Given the description of an element on the screen output the (x, y) to click on. 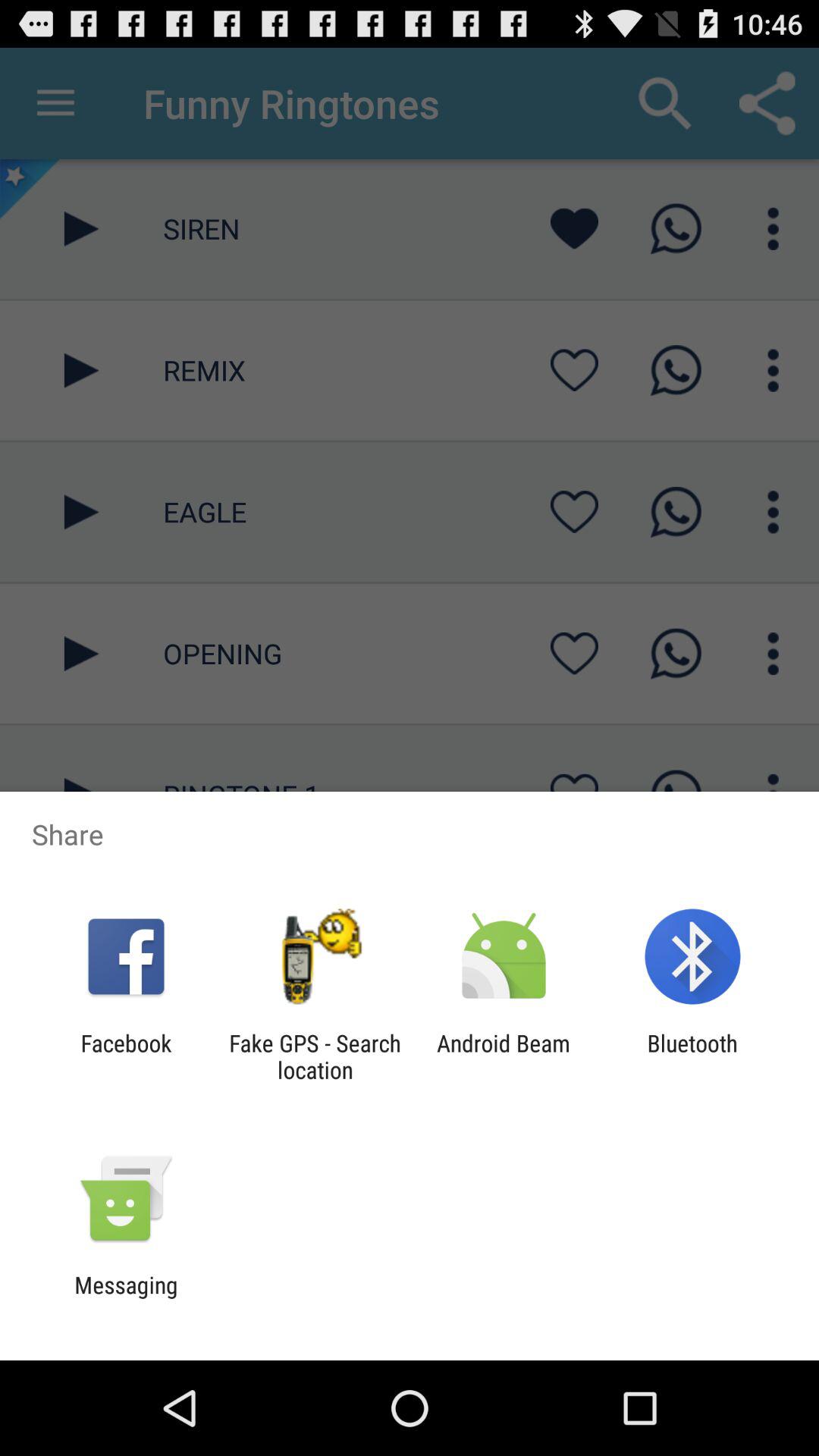
press messaging item (126, 1298)
